Given the description of an element on the screen output the (x, y) to click on. 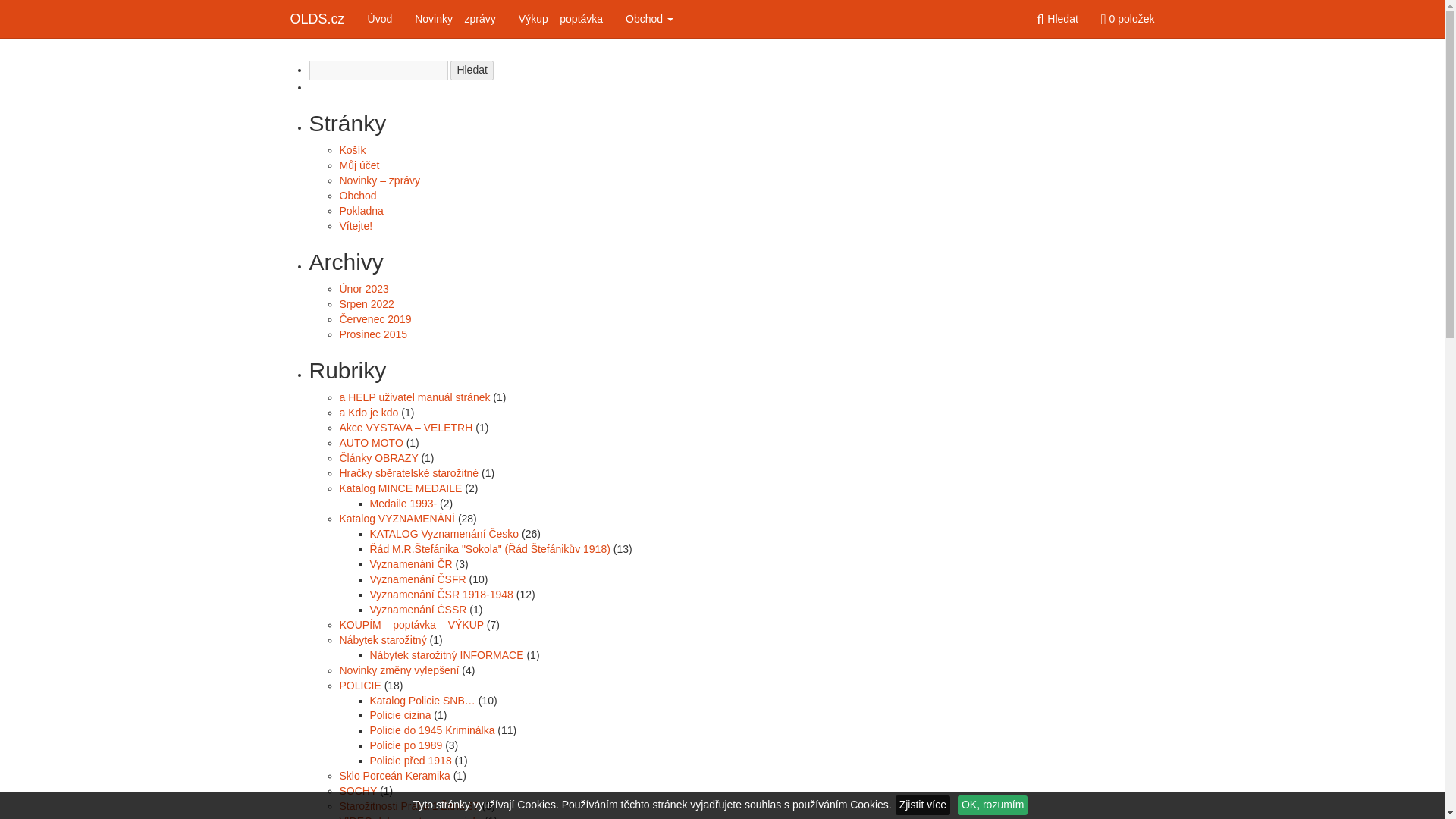
Katalog MINCE MEDAILE (401, 488)
a Kdo je kdo (368, 412)
Hledat (471, 70)
Hledat (471, 70)
Hledat (1057, 18)
Srpen 2022 (366, 304)
OLDS.cz (317, 18)
Pokladna (361, 210)
Obchod (358, 195)
Prosinec 2015 (373, 334)
Obchod (649, 18)
AUTO MOTO (371, 442)
Medaile 1993- (403, 503)
Obchod (649, 18)
